Given the description of an element on the screen output the (x, y) to click on. 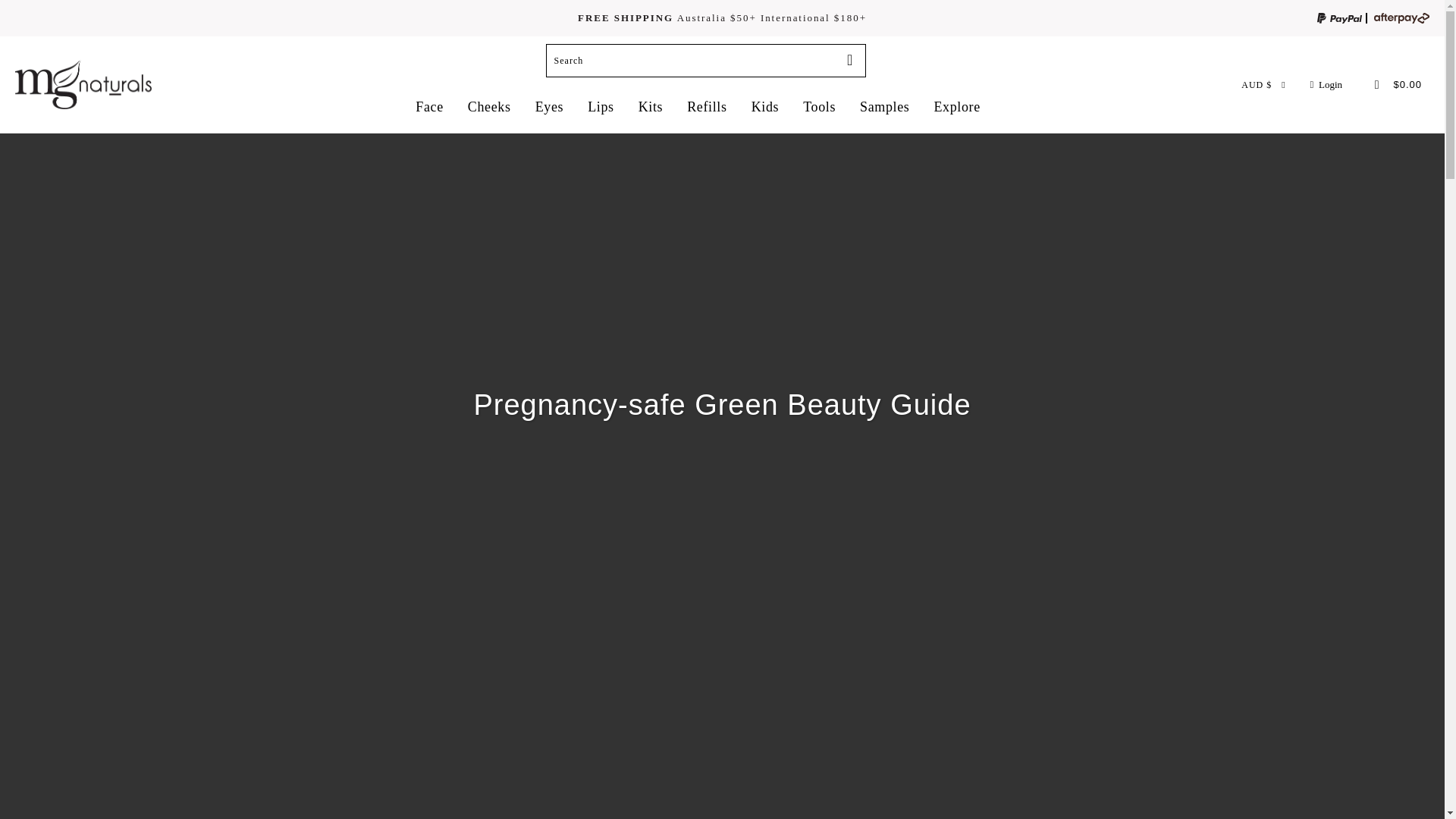
My Account  (1323, 84)
Cart (1387, 84)
MG Naturals (82, 83)
